Given the description of an element on the screen output the (x, y) to click on. 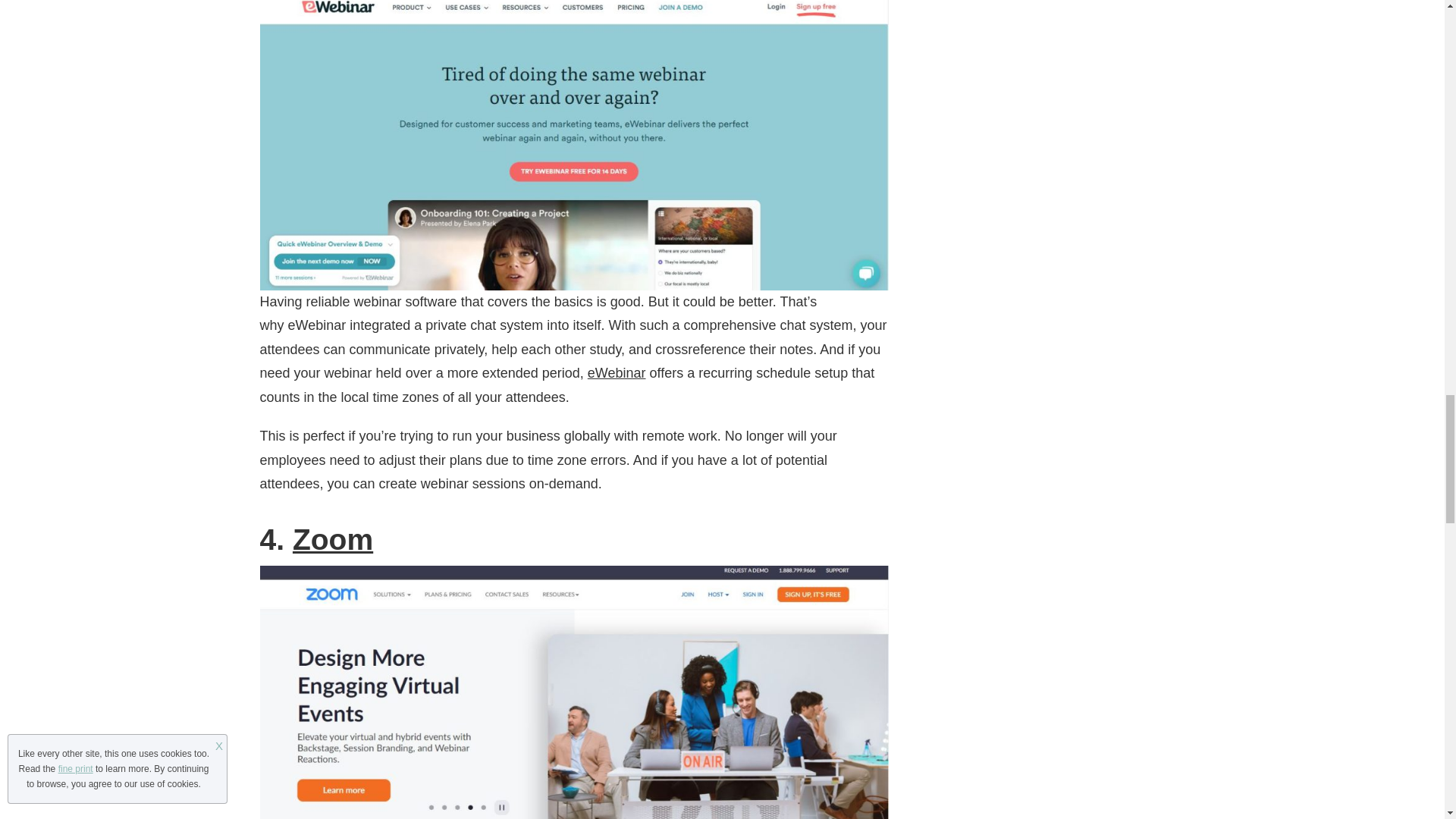
eWebinar (617, 372)
Zoom (332, 539)
